Given the description of an element on the screen output the (x, y) to click on. 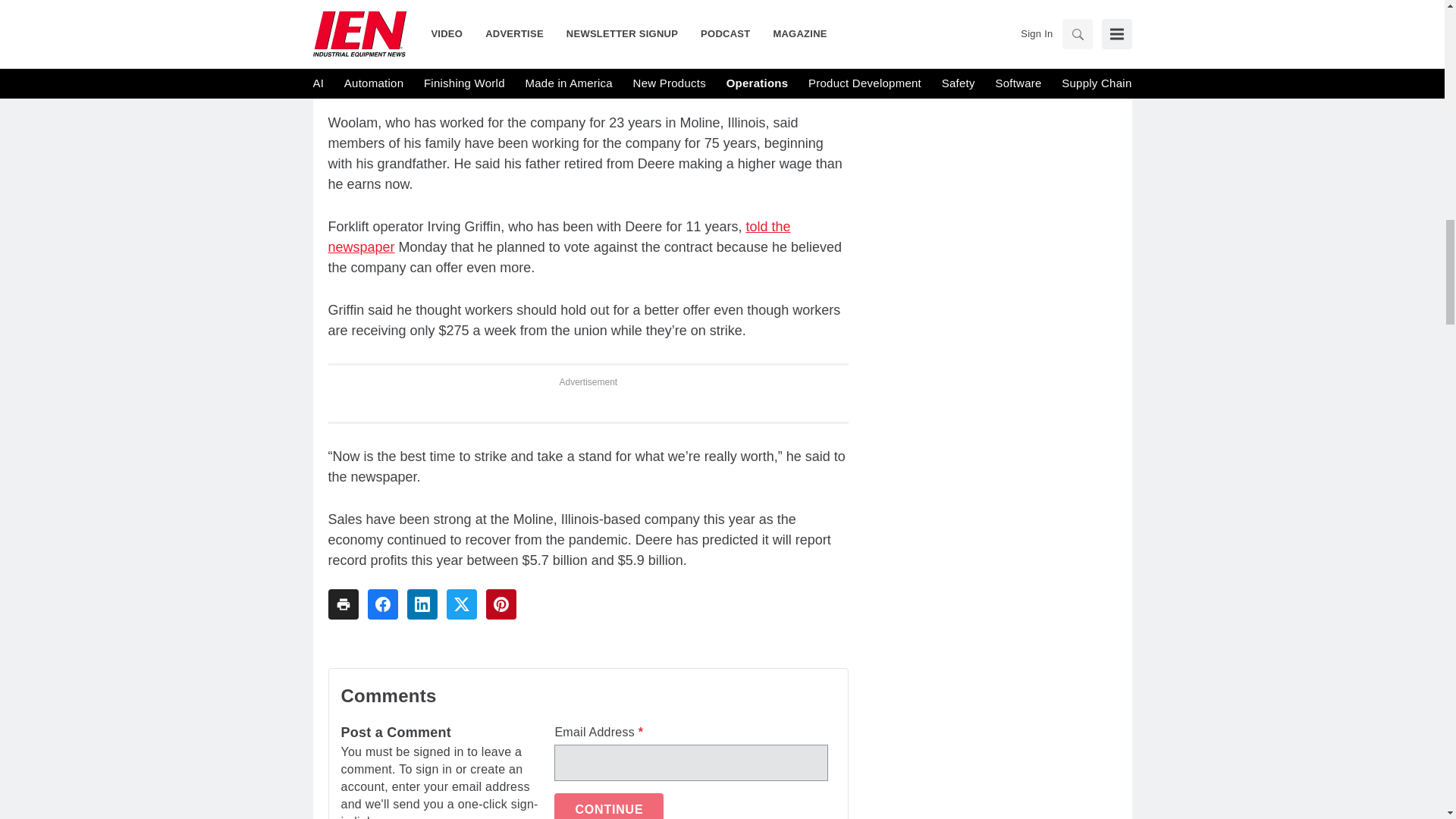
Share To facebook (381, 603)
Share To pinterest (499, 603)
Share To print (342, 603)
Share To linkedin (421, 603)
Share To twitter (460, 603)
